Given the description of an element on the screen output the (x, y) to click on. 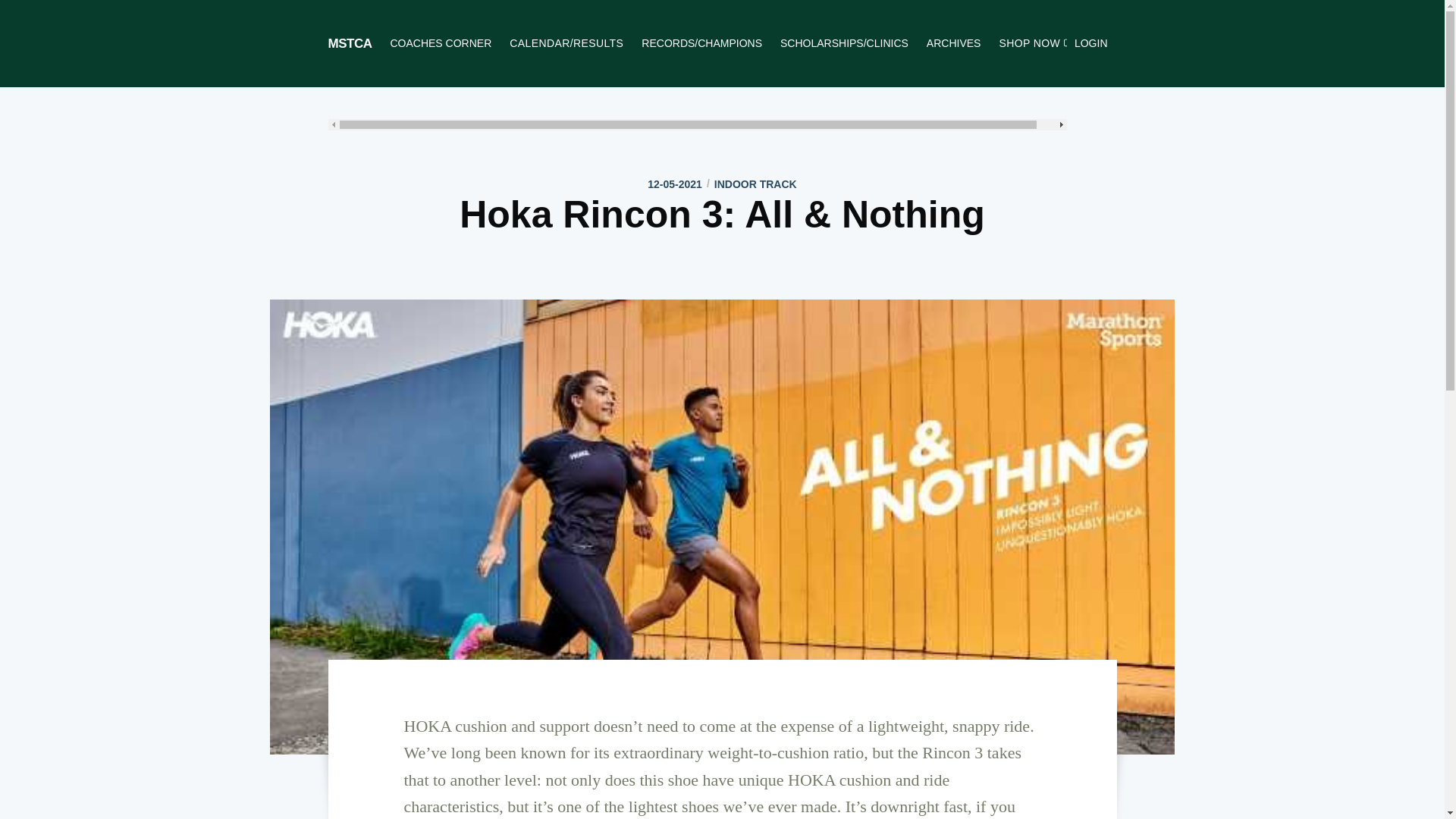
ARCHIVES (953, 43)
LOGIN (1090, 43)
MSTCA (349, 43)
COACHES CORNER (440, 43)
SHOP NOW (1038, 43)
INDOOR TRACK (755, 184)
